Given the description of an element on the screen output the (x, y) to click on. 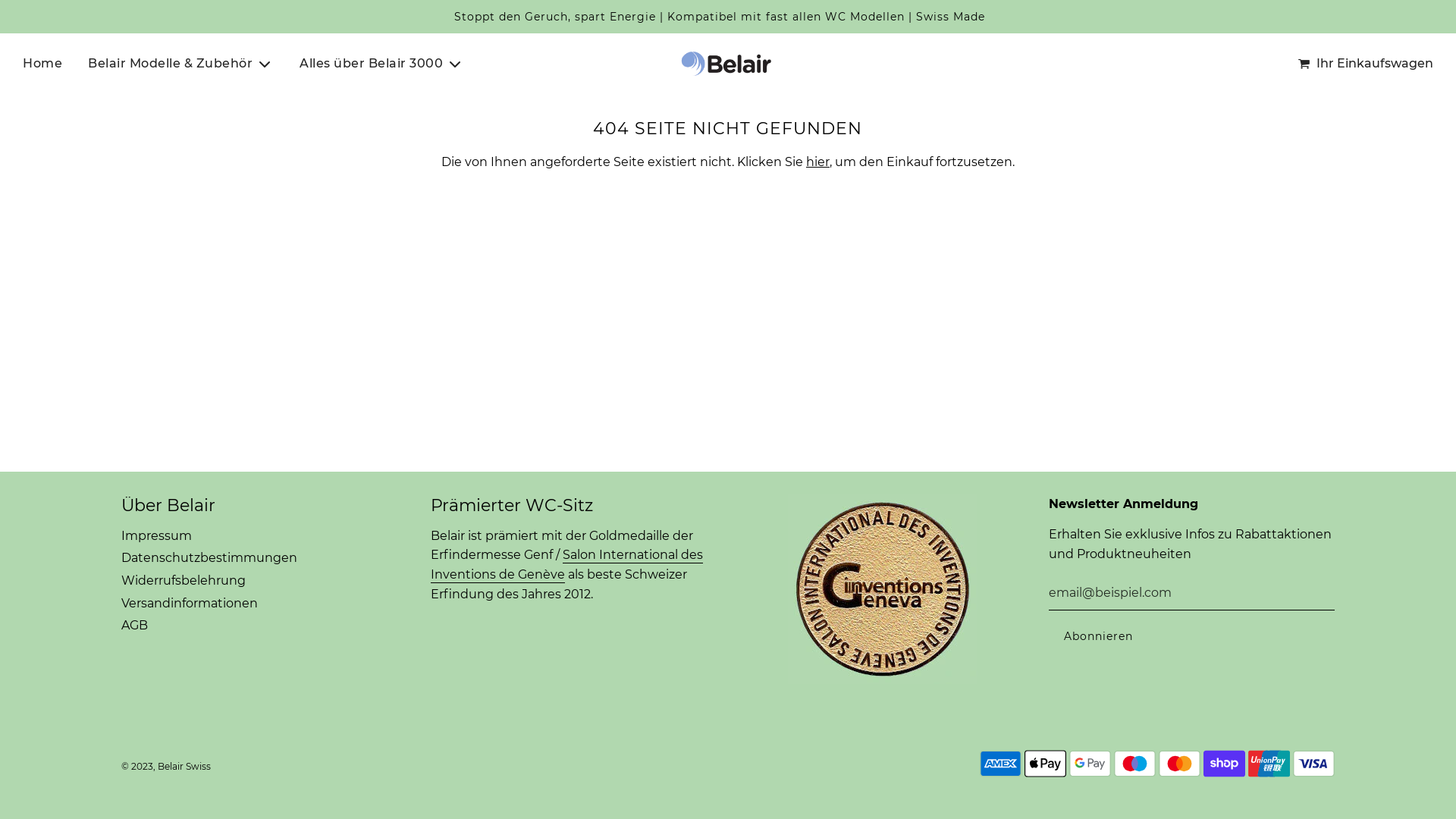
Abonnieren Element type: text (1097, 636)
hier Element type: text (817, 161)
Impressum Element type: text (156, 535)
Widerrufsbelehrung Element type: text (183, 580)
Versandinformationen Element type: text (189, 603)
Ihr Einkaufswagen Element type: text (1364, 63)
AGB Element type: text (134, 625)
Datenschutzbestimmungen Element type: text (209, 557)
Home Element type: text (42, 63)
